Given the description of an element on the screen output the (x, y) to click on. 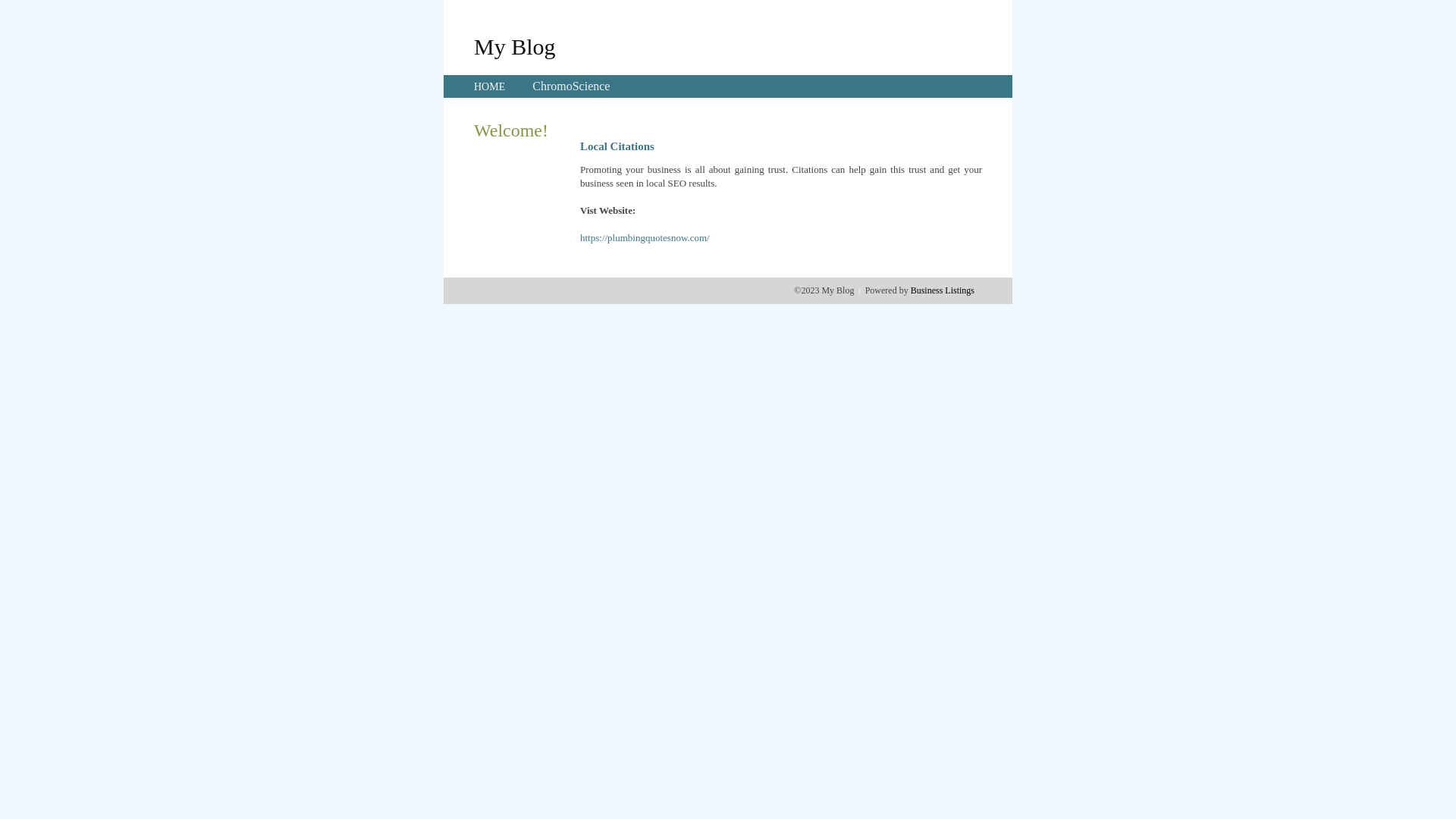
My Blog Element type: text (514, 46)
HOME Element type: text (489, 86)
ChromoScience Element type: text (570, 85)
https://plumbingquotesnow.com/ Element type: text (644, 237)
Business Listings Element type: text (942, 290)
